Given the description of an element on the screen output the (x, y) to click on. 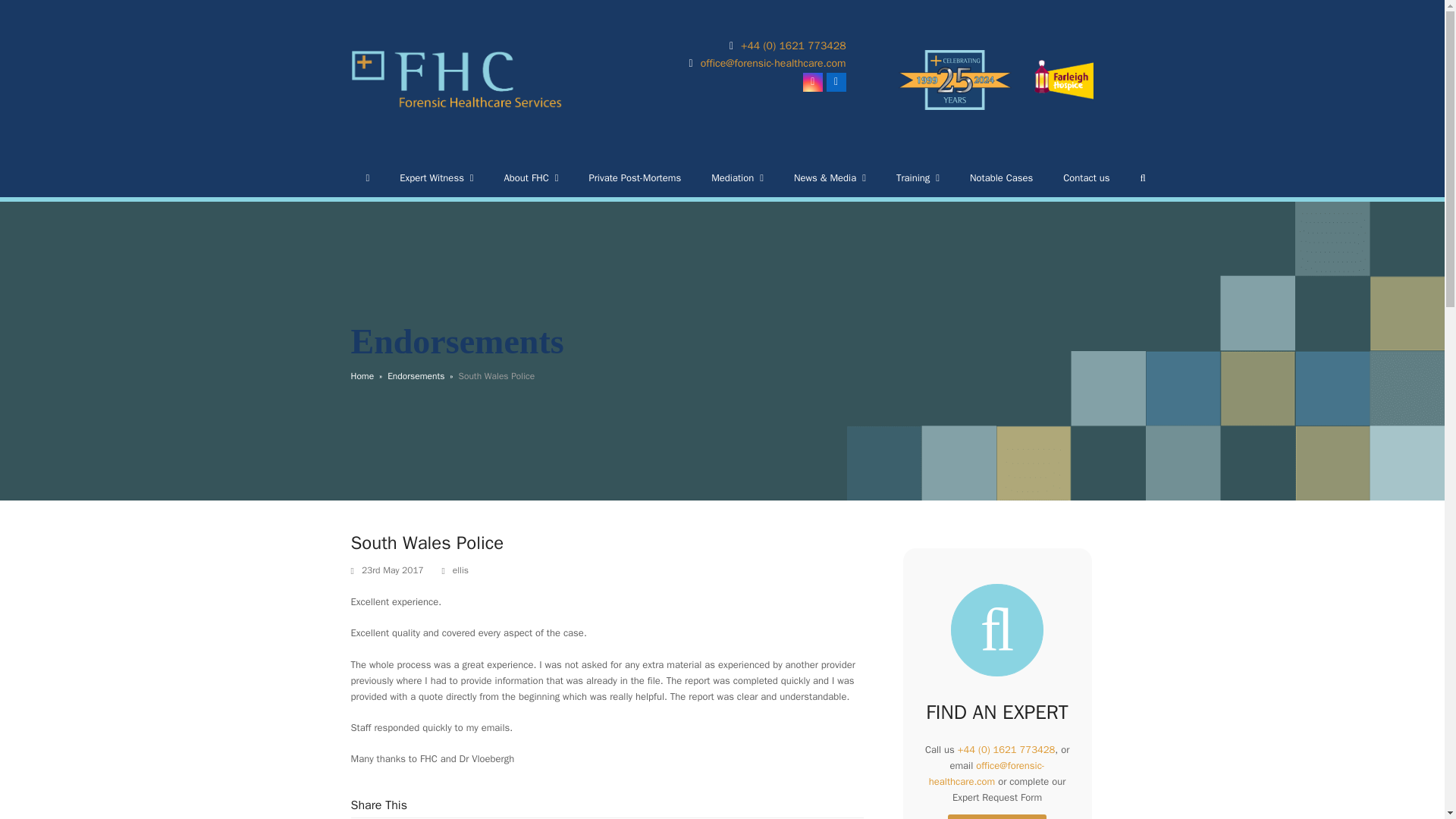
LinkedIn (836, 82)
About FHC (531, 177)
Instagram (812, 82)
LinkedIn (836, 82)
Posts by ellis (460, 570)
Expert Witness (435, 177)
Instagram (812, 82)
